Given the description of an element on the screen output the (x, y) to click on. 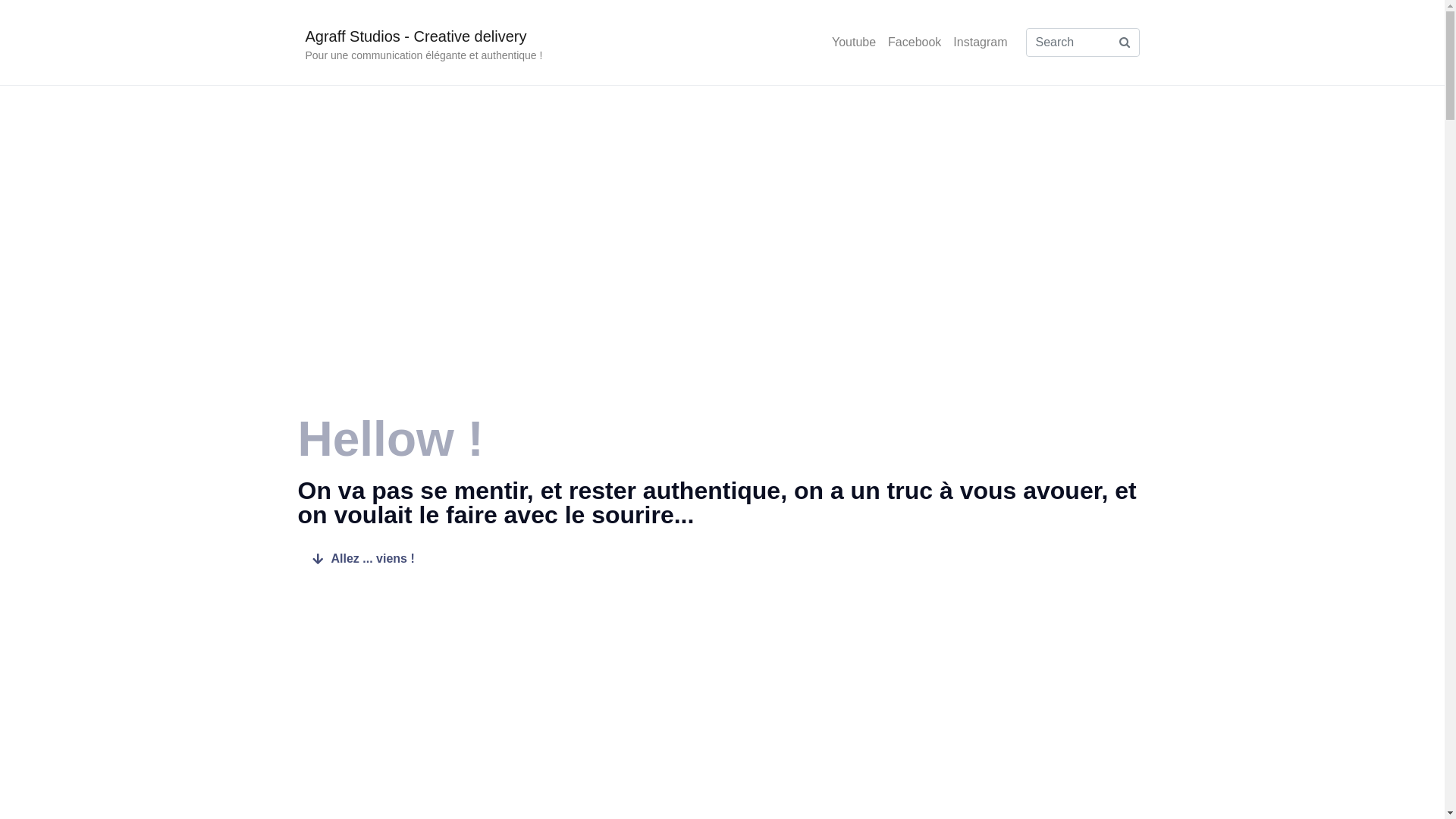
Youtube Element type: text (853, 42)
Agraff Studios - Creative delivery Element type: text (415, 36)
Instagram Element type: text (980, 42)
Allez ... viens ! Element type: text (360, 559)
Facebook Element type: text (914, 42)
